Given the description of an element on the screen output the (x, y) to click on. 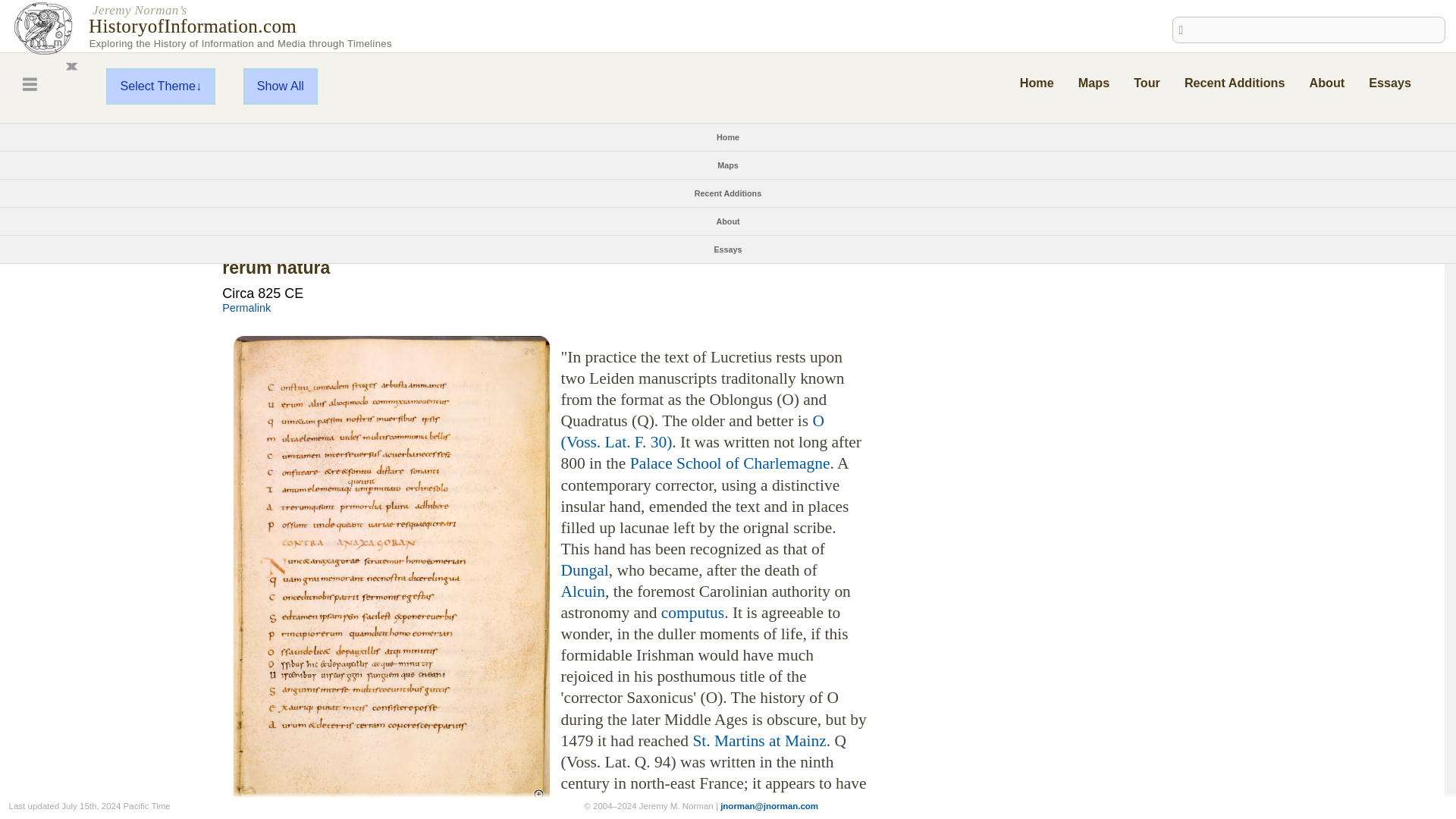
Saint-Bertin (689, 807)
Home (1037, 82)
Permalink (246, 307)
Tour (1146, 82)
Essays (727, 248)
Show All (280, 85)
A: Bobbio, Emilia-Romagna, Italy (307, 196)
Palace School of Charlemagne (729, 463)
Dungal (584, 570)
Maps (727, 164)
